Given the description of an element on the screen output the (x, y) to click on. 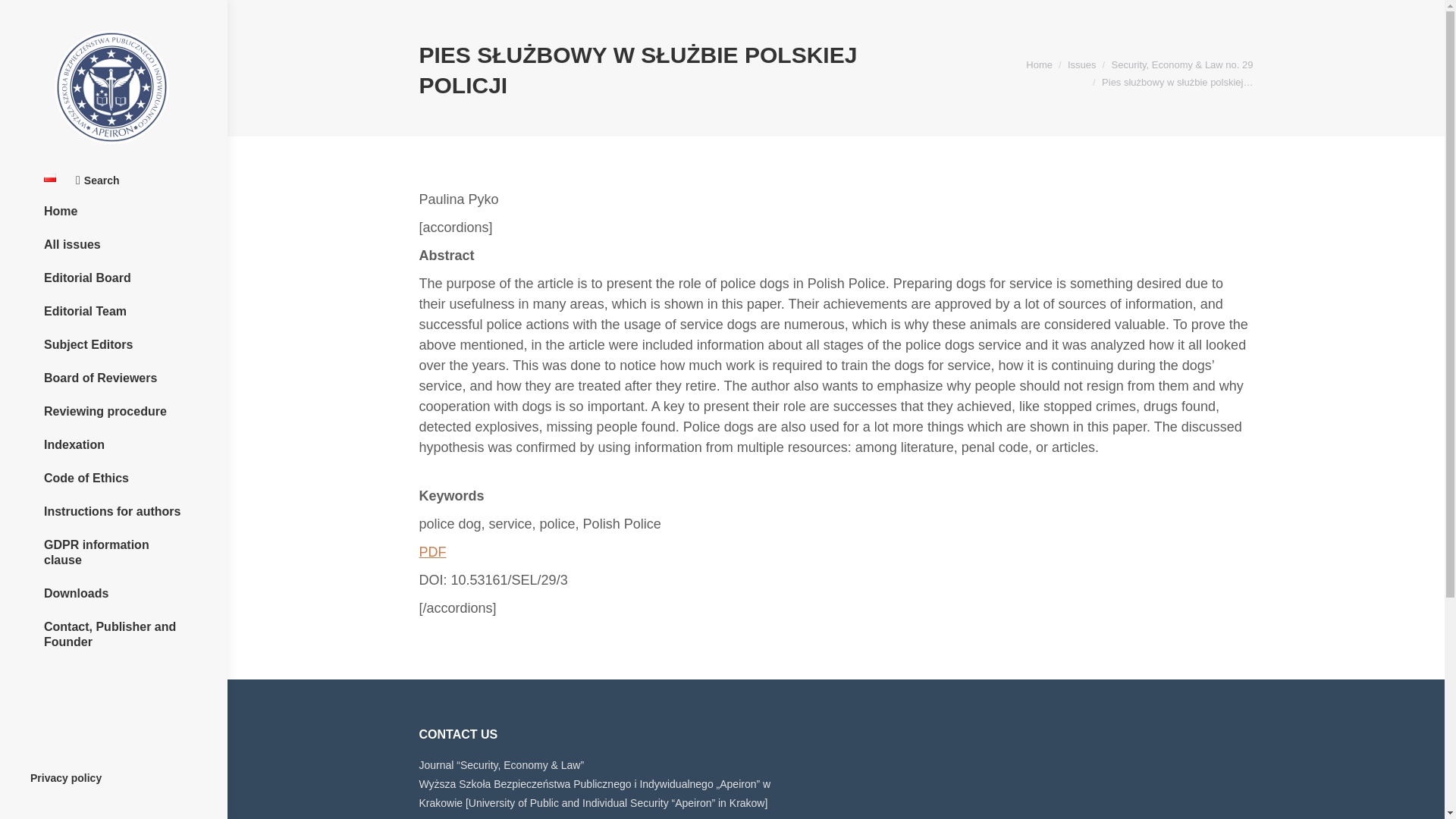
Home (1039, 64)
Reviewing procedure (113, 411)
Editorial Board (113, 278)
Home (113, 210)
GDPR information clause (113, 552)
Indexation (113, 444)
Subject Editors (113, 344)
Editorial Team (113, 311)
Downloads (113, 593)
Board of Reviewers (113, 378)
Instructions for authors (113, 511)
Search (97, 180)
Privacy policy (65, 777)
All issues (113, 244)
Contact, Publisher and Founder (113, 634)
